Given the description of an element on the screen output the (x, y) to click on. 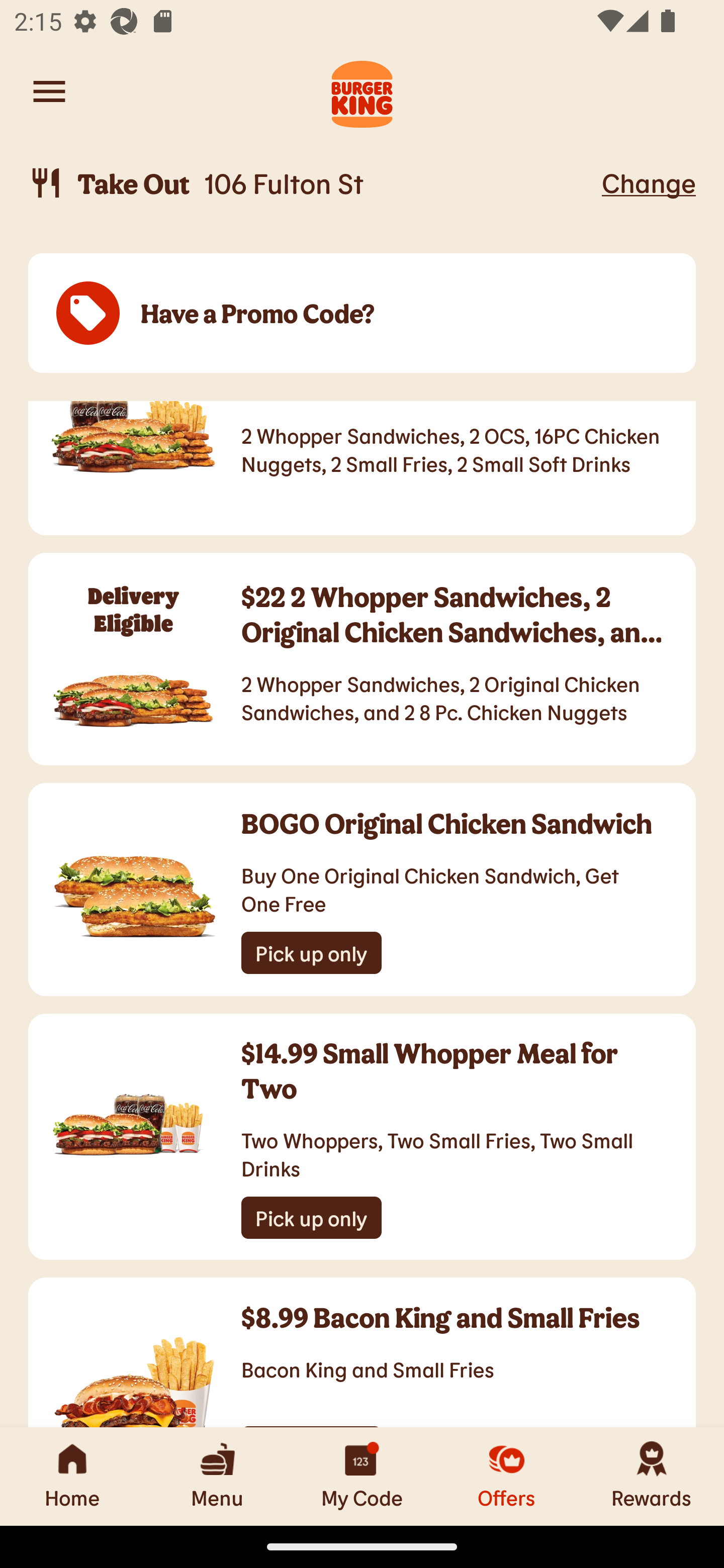
Burger King Logo. Navigate to Home (362, 91)
Navigate to account menu  (49, 91)
Take Out, 106 Fulton St  Take Out 106 Fulton St (311, 183)
Change (648, 182)
Have a Promo Code?  Have a Promo Code? (361, 313)
Home (72, 1475)
Menu (216, 1475)
My Code (361, 1475)
Offers (506, 1475)
Rewards (651, 1475)
